Given the description of an element on the screen output the (x, y) to click on. 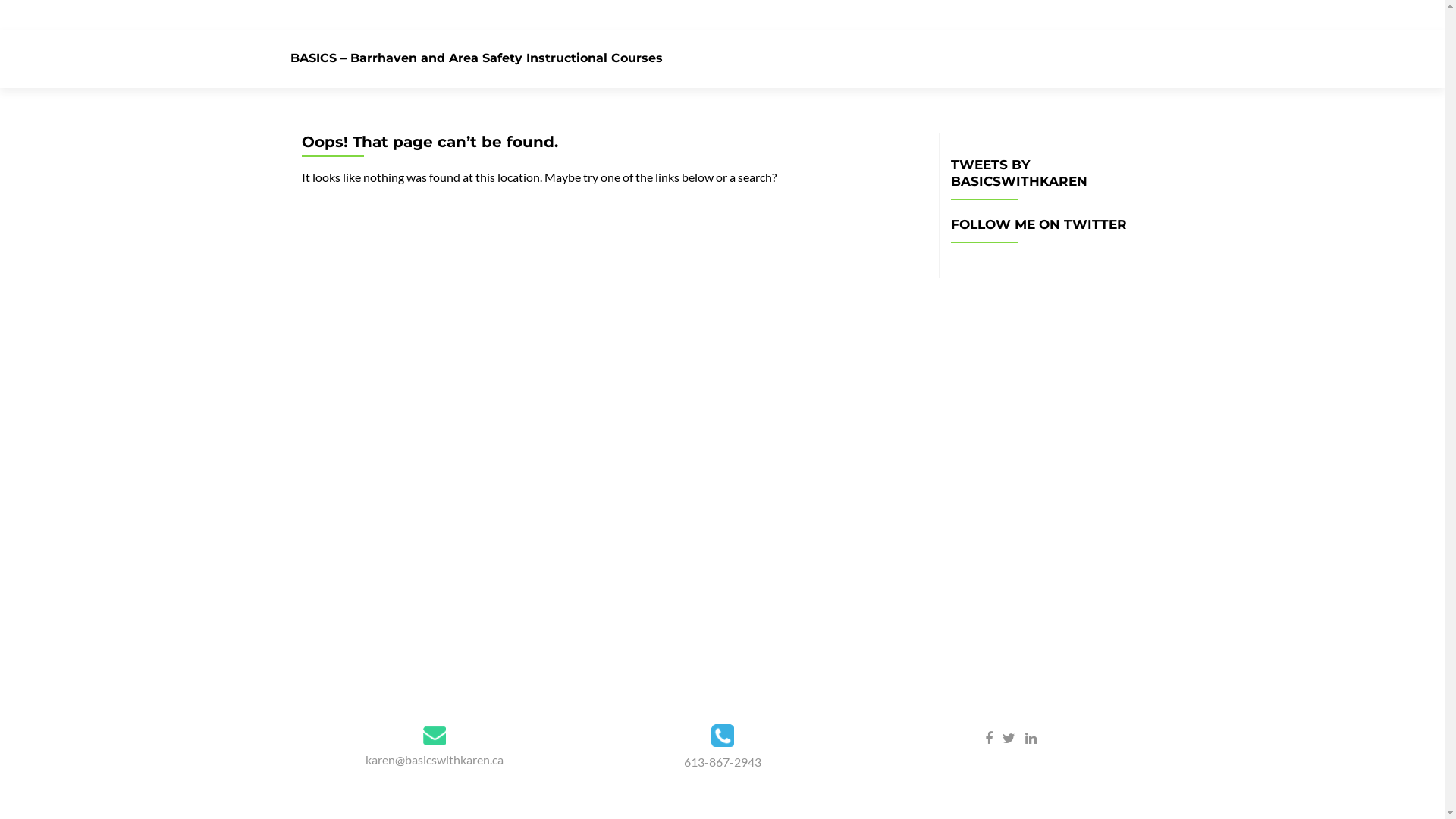
Twitter link Element type: hover (1008, 736)
karen@basicswithkaren.ca Element type: text (434, 759)
Tweets by @Basicswithkaren Element type: text (1047, 267)
613-867-2943 Element type: text (722, 760)
Facebook link Element type: hover (987, 736)
Linkedin link Element type: hover (1030, 736)
